Given the description of an element on the screen output the (x, y) to click on. 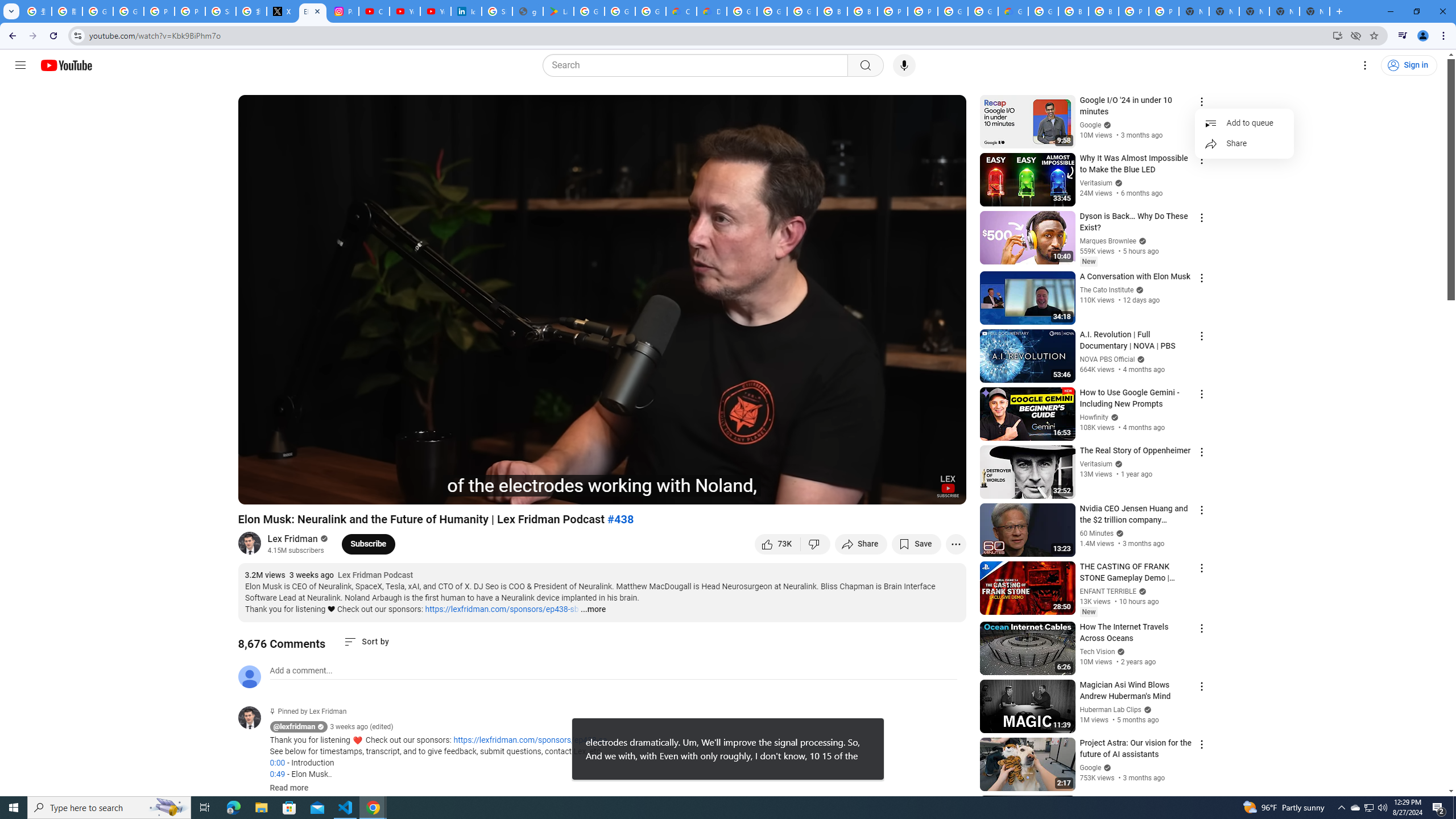
Default profile photo (248, 676)
Google Cloud Estimate Summary (1012, 11)
Read more (288, 787)
Subtitles/closed captions unavailable (836, 490)
Privacy Help Center - Policies Help (189, 11)
@lexfridman (294, 726)
Browse Chrome as a guest - Computer - Google Chrome Help (1072, 11)
